Given the description of an element on the screen output the (x, y) to click on. 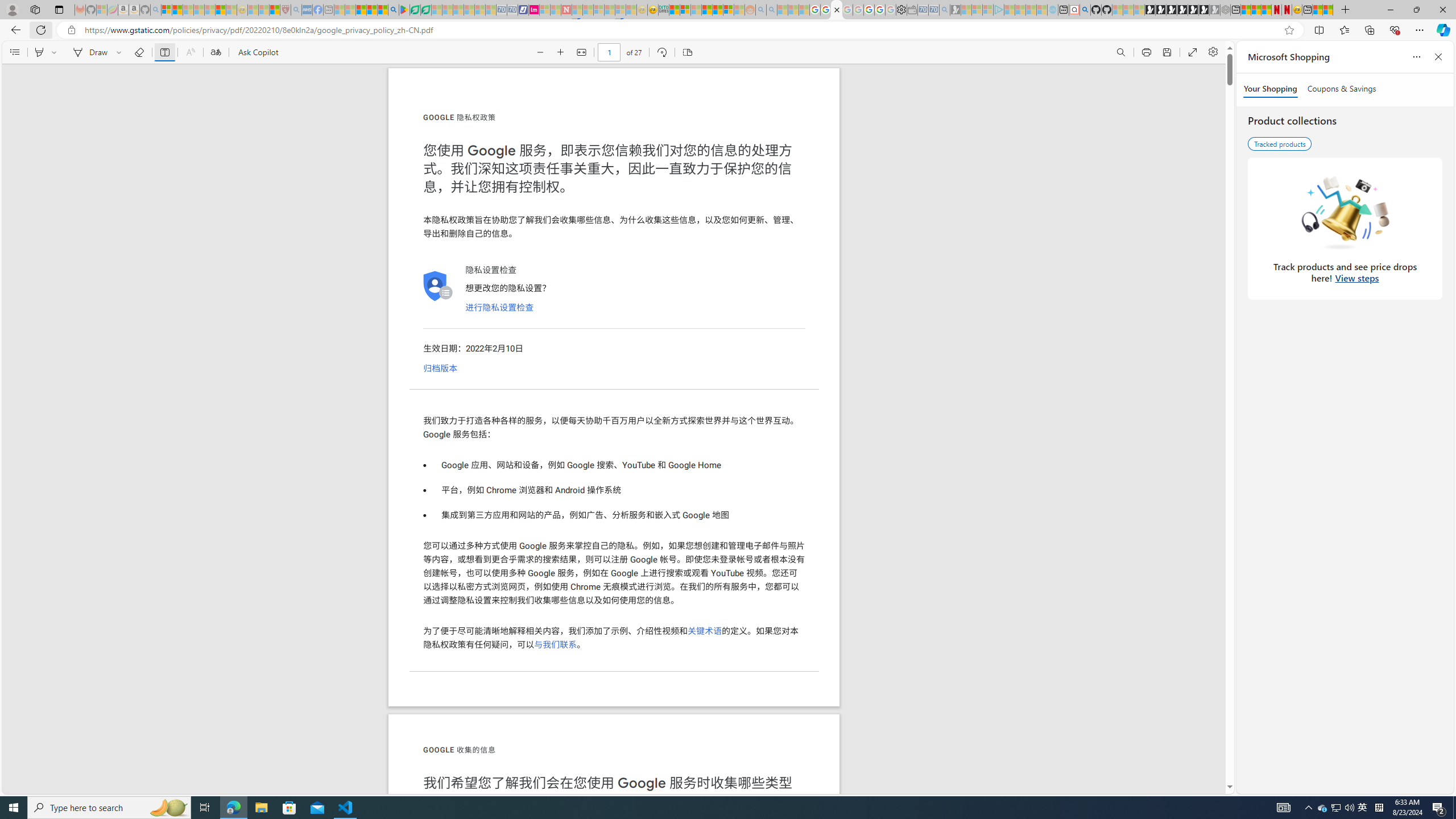
Find (Ctrl + F) (1120, 52)
Ask Copilot (257, 52)
Local - MSN (274, 9)
Expert Portfolios (707, 9)
Save (Ctrl+S) (1166, 52)
Terms of Use Agreement (414, 9)
Jobs - lastminute.com Investor Portal (534, 9)
